Given the description of an element on the screen output the (x, y) to click on. 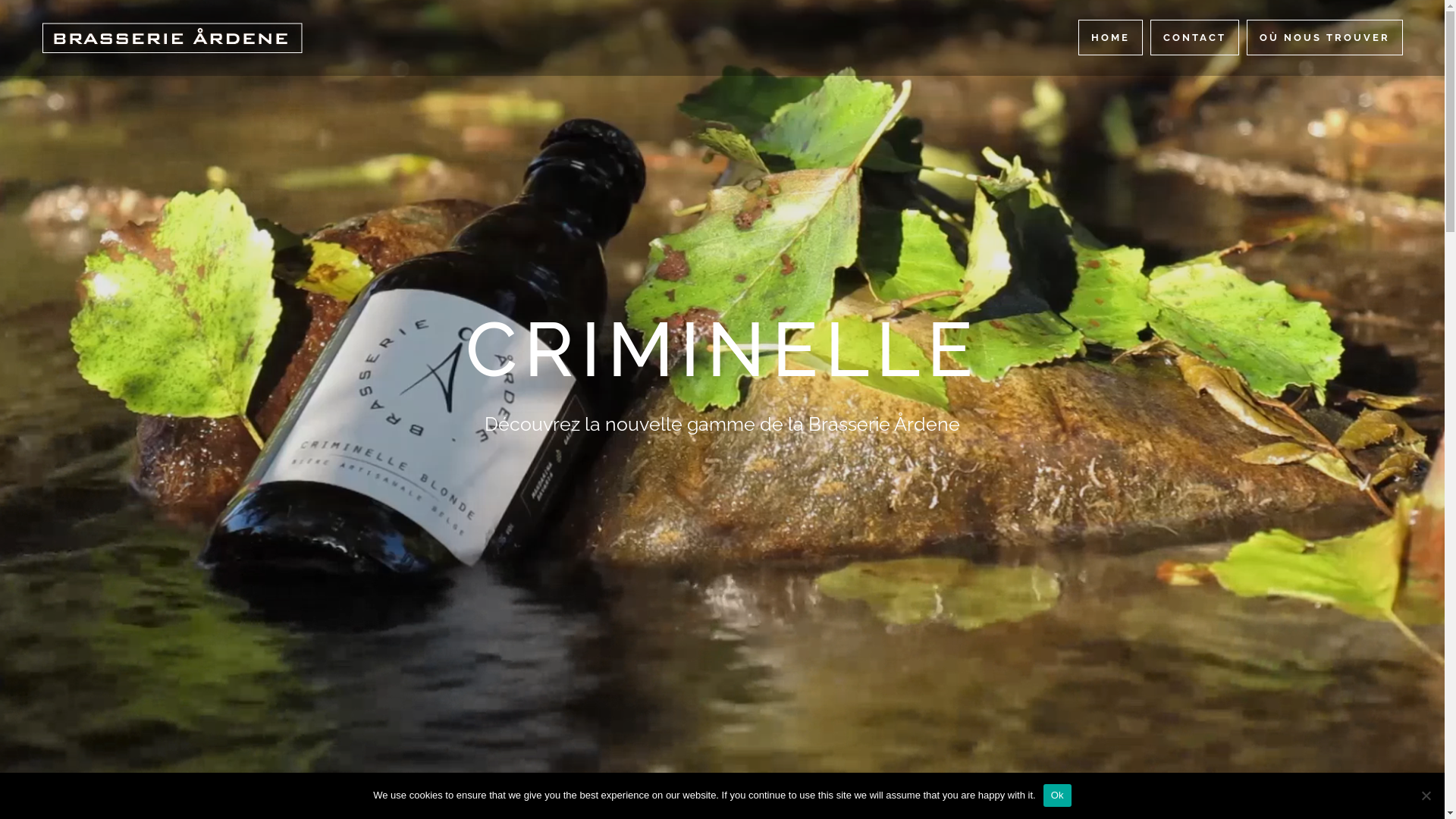
No Element type: hover (1425, 795)
Find Me On Facebook Element type: text (721, 577)
Ok Element type: text (1057, 795)
Email Me Element type: text (432, 576)
CONTACT Element type: text (1194, 37)
HOME Element type: text (1110, 37)
